Given the description of an element on the screen output the (x, y) to click on. 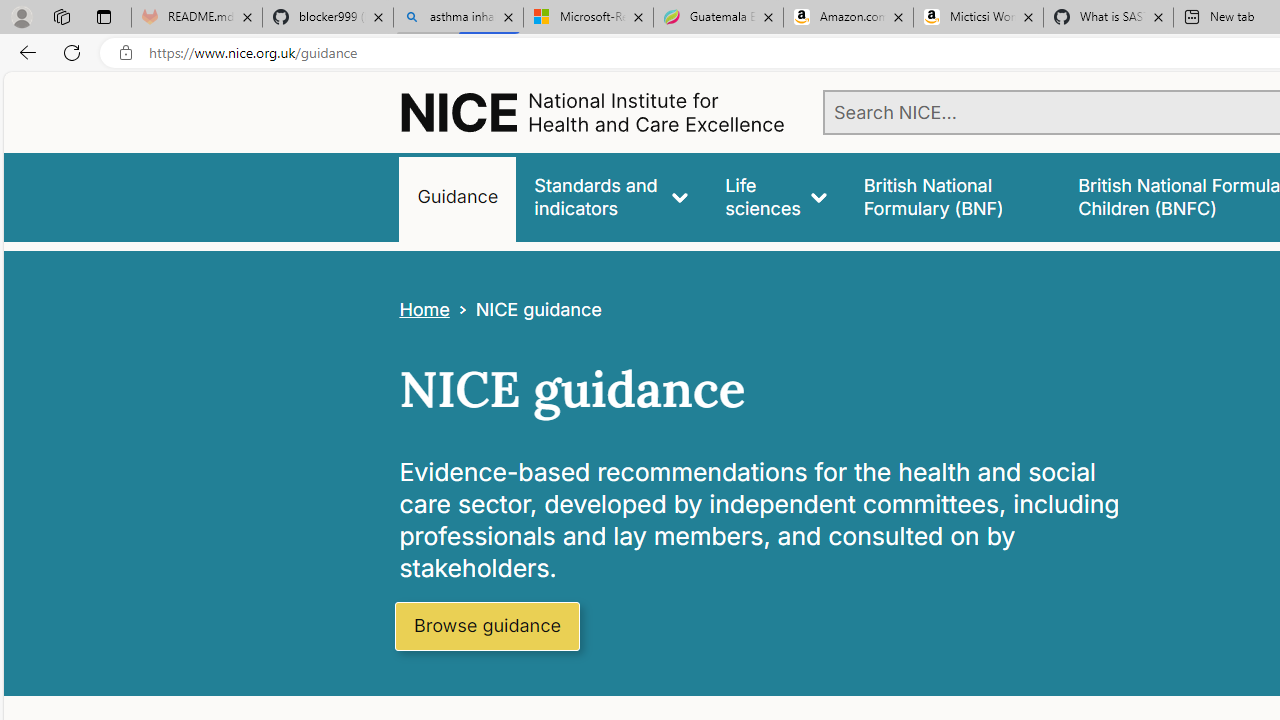
Guidance (458, 196)
false (952, 196)
Life sciences (776, 196)
Browse guidance (486, 626)
